Given the description of an element on the screen output the (x, y) to click on. 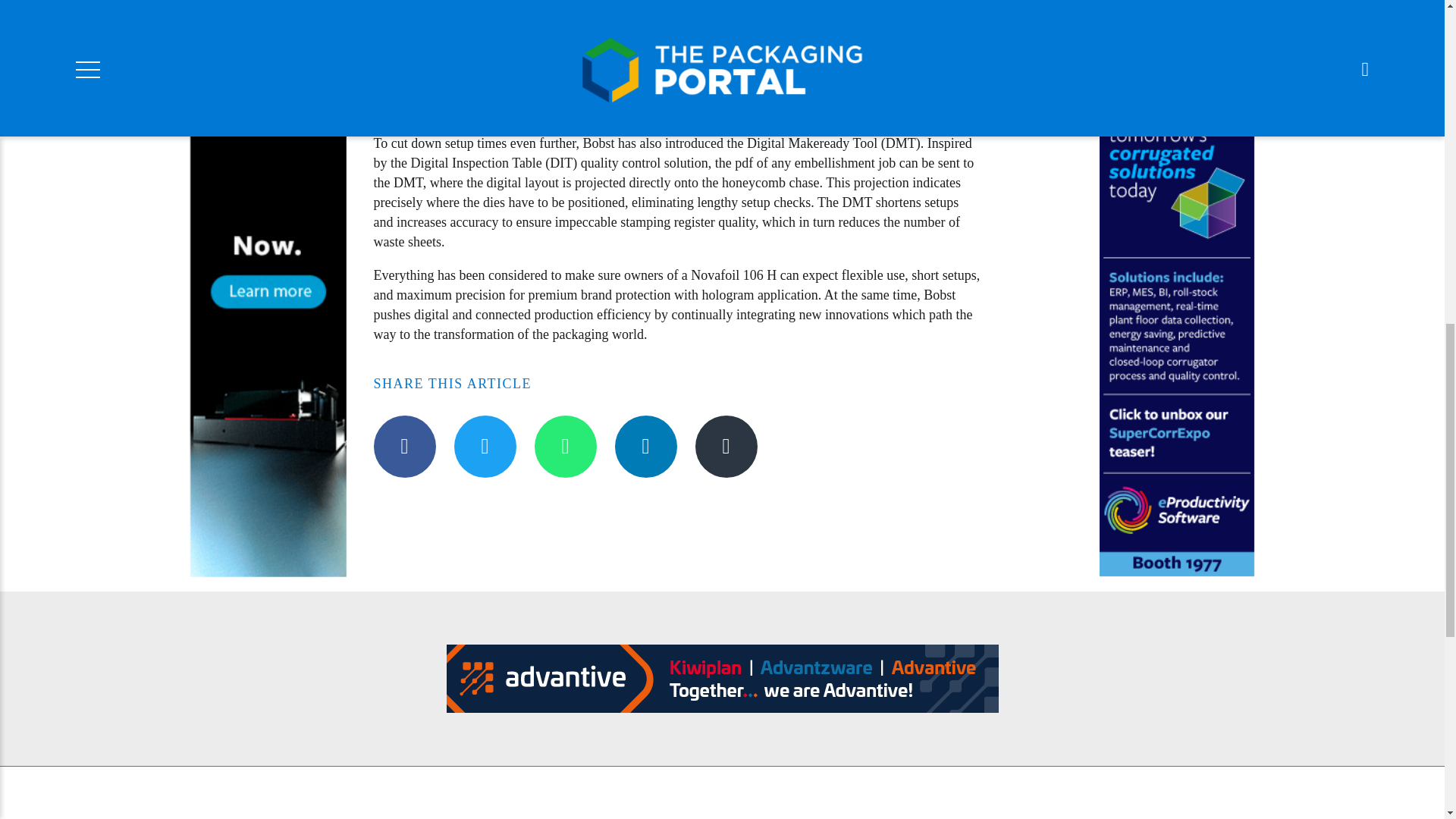
Share on Facebook (403, 446)
Share on Twitter (483, 446)
Share on LinkedIn (645, 446)
Share on Whatsapp (564, 446)
Send link to friend (725, 446)
